Given the description of an element on the screen output the (x, y) to click on. 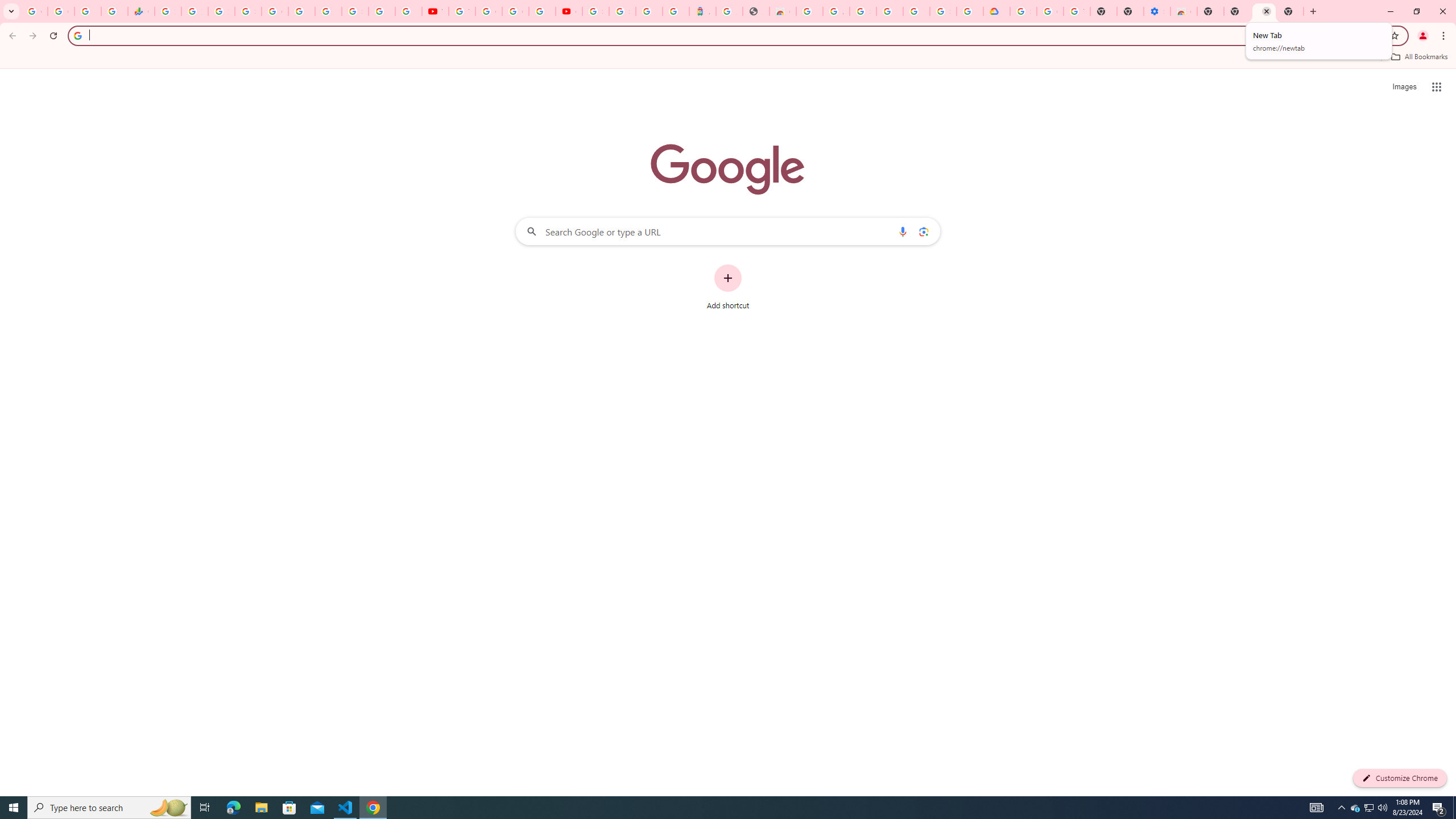
Create your Google Account (515, 11)
Google Workspace Admin Community (34, 11)
Sign in - Google Accounts (248, 11)
Settings - Accessibility (1156, 11)
Atour Hotel - Google hotels (702, 11)
Chrome Web Store - Accessibility extensions (1183, 11)
Chrome Web Store - Household (782, 11)
Sign in - Google Accounts (595, 11)
